Given the description of an element on the screen output the (x, y) to click on. 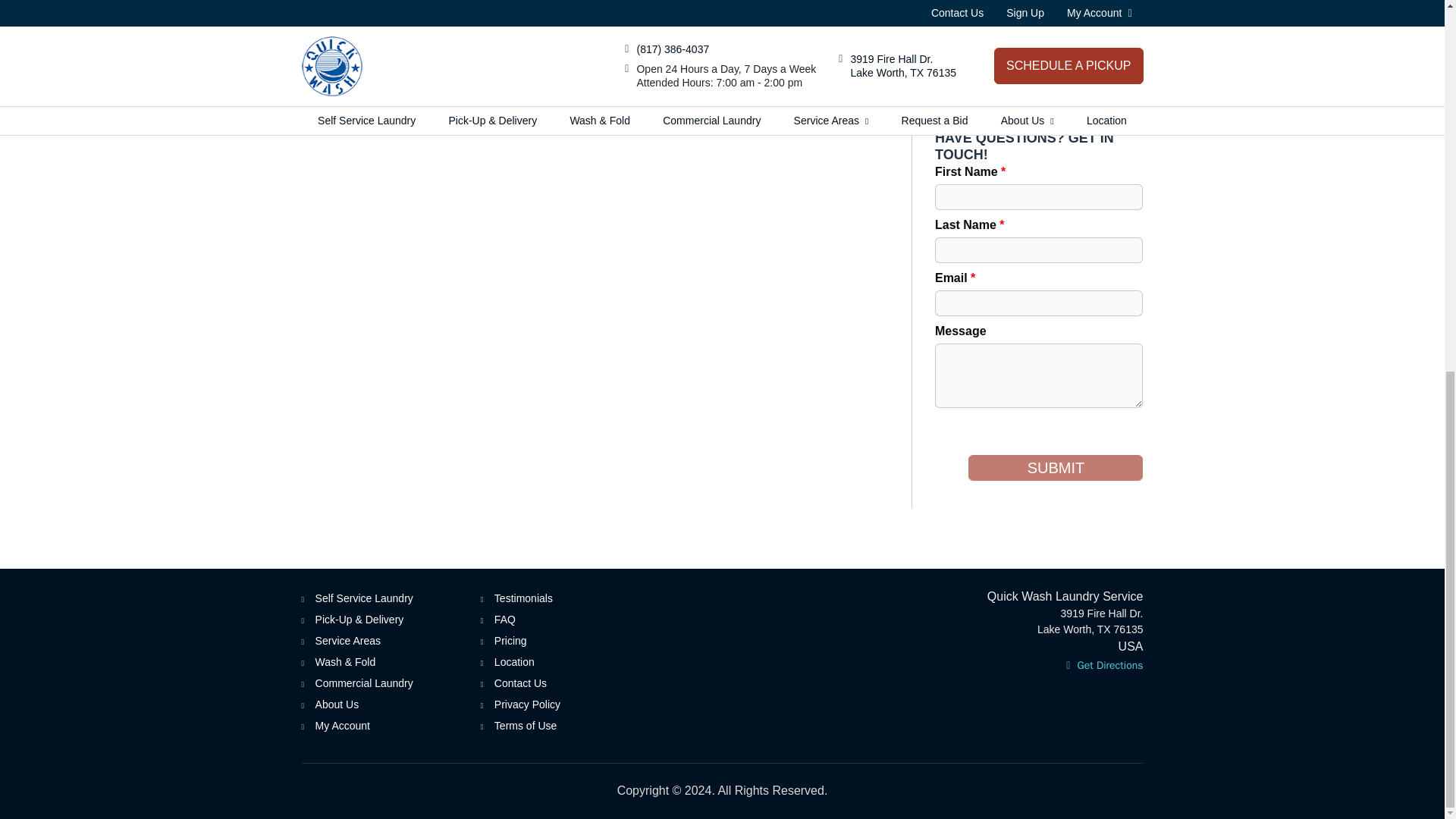
Submit (1055, 466)
